Given the description of an element on the screen output the (x, y) to click on. 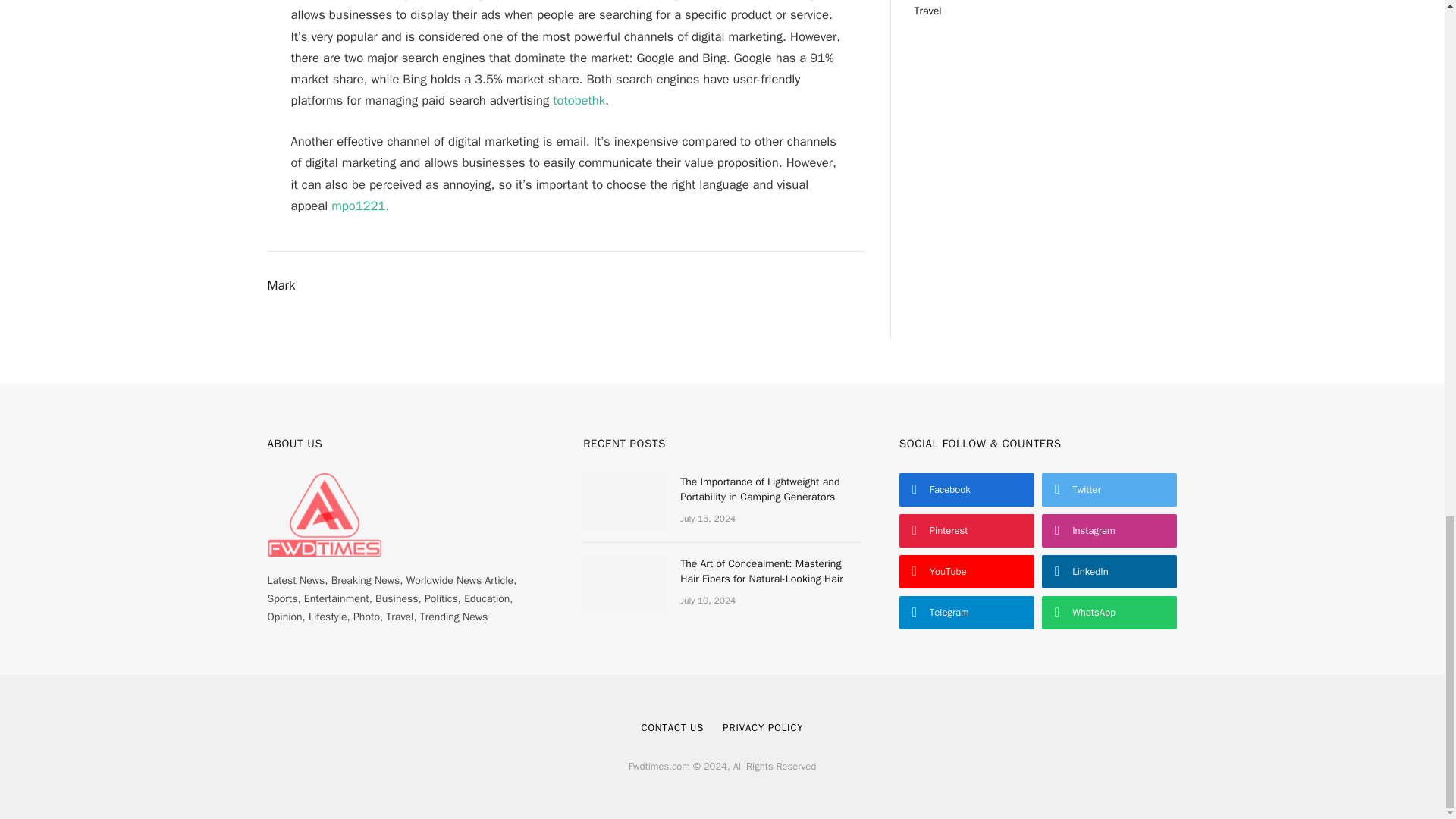
totobethk (579, 100)
mpo1221 (358, 205)
Mark (280, 285)
Posts by Mark (280, 285)
